Given the description of an element on the screen output the (x, y) to click on. 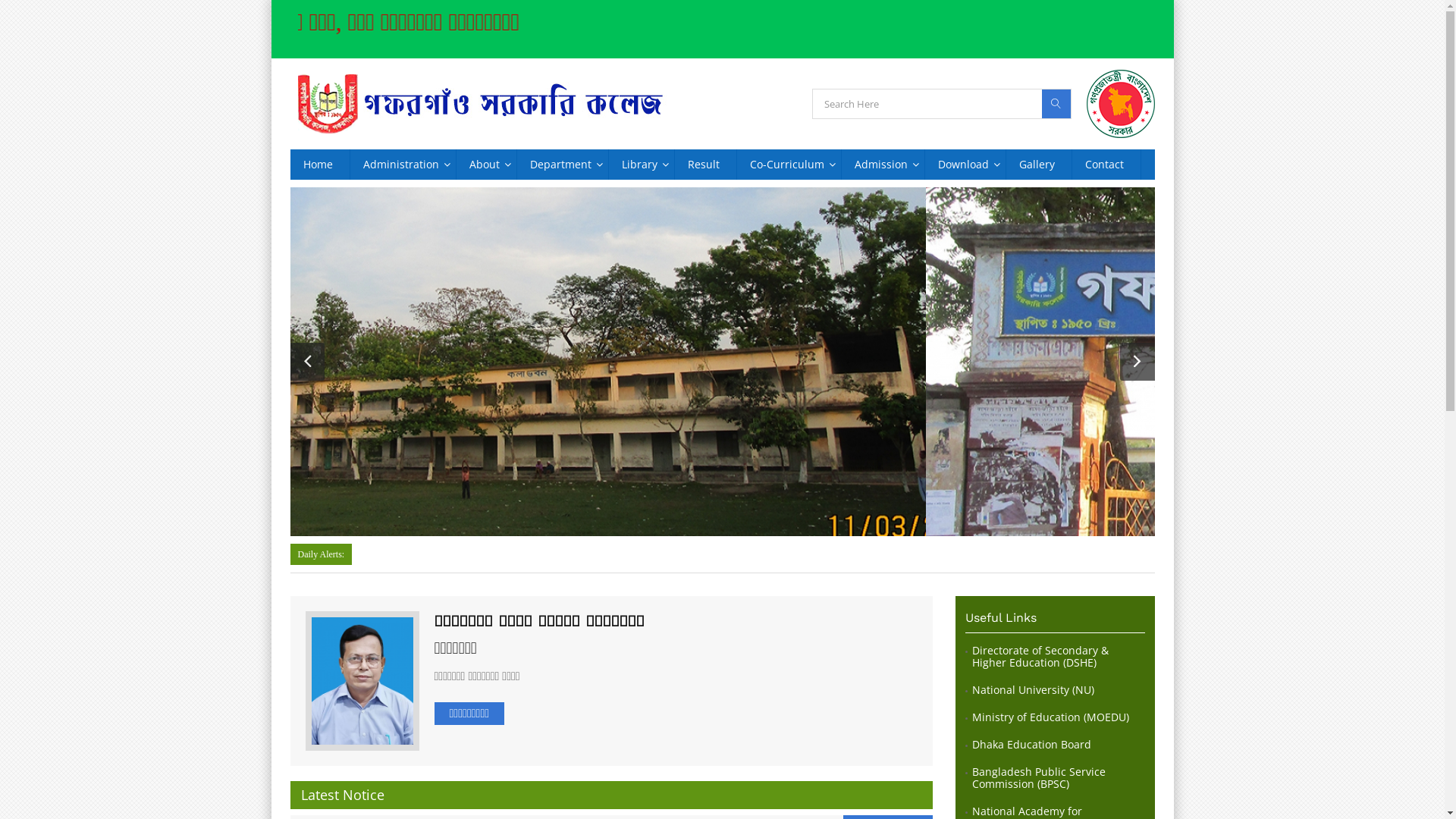
Admission Element type: text (882, 164)
Download Element type: text (965, 164)
Ministry of Education (MOEDU) Element type: text (1050, 717)
Dhaka Education Board Element type: text (1031, 744)
National University (NU) Element type: text (1033, 690)
Result Element type: text (705, 164)
Administration Element type: text (402, 164)
Co-Curriculum Element type: text (788, 164)
Directorate of Secondary & Higher Education (DSHE) Element type: text (1058, 656)
Bangladesh Public Service Commission (BPSC) Element type: text (1058, 777)
e-commerce Element type: hover (597, 181)
                       Element type: text (527, 252)
Home Element type: text (318, 164)
Department Element type: text (562, 164)
About Element type: text (486, 164)
Gallery Element type: text (1037, 164)
Contact Element type: text (1106, 164)
Library Element type: text (640, 164)
